Given the description of an element on the screen output the (x, y) to click on. 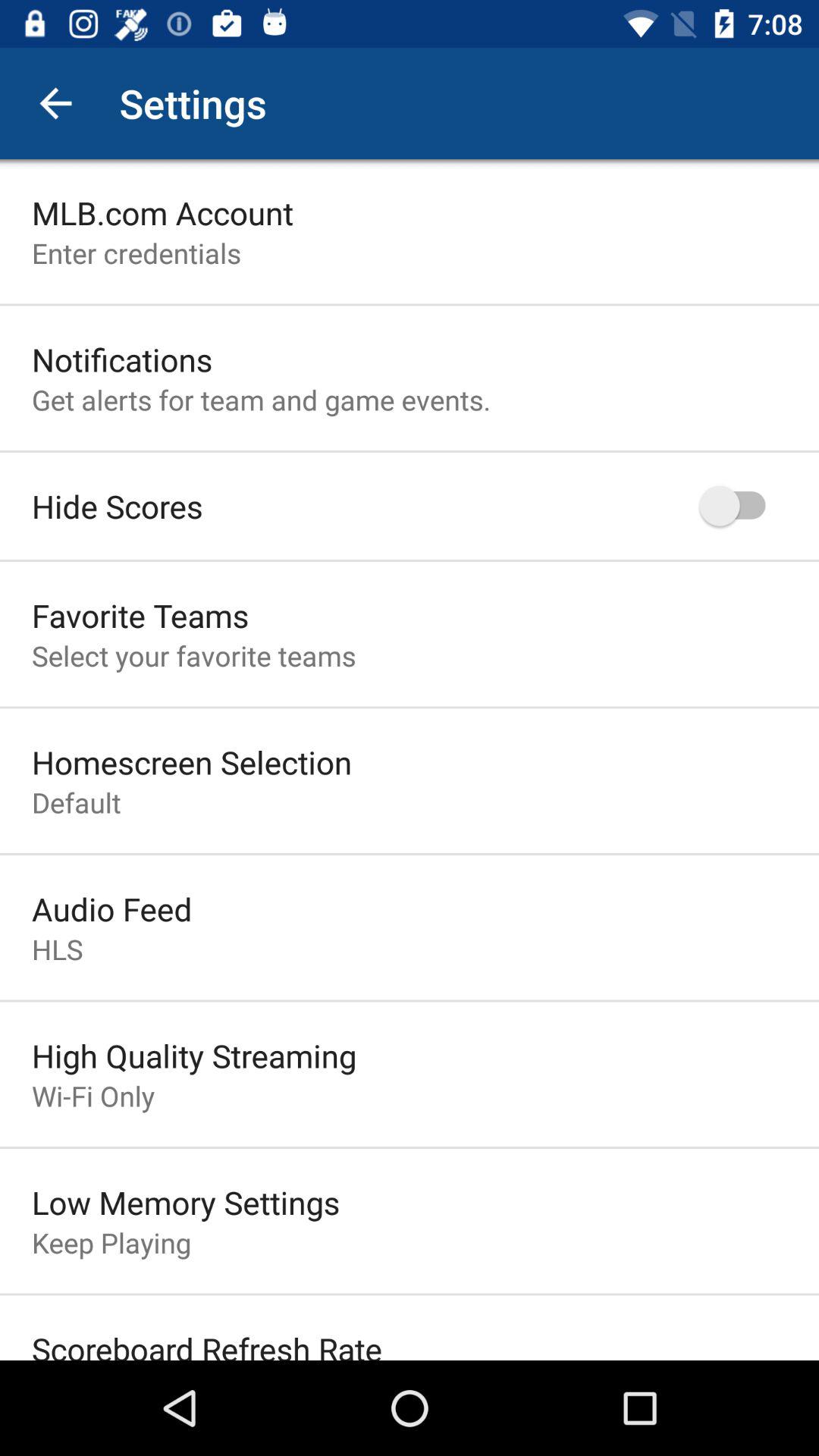
turn on the icon on the right (739, 505)
